Given the description of an element on the screen output the (x, y) to click on. 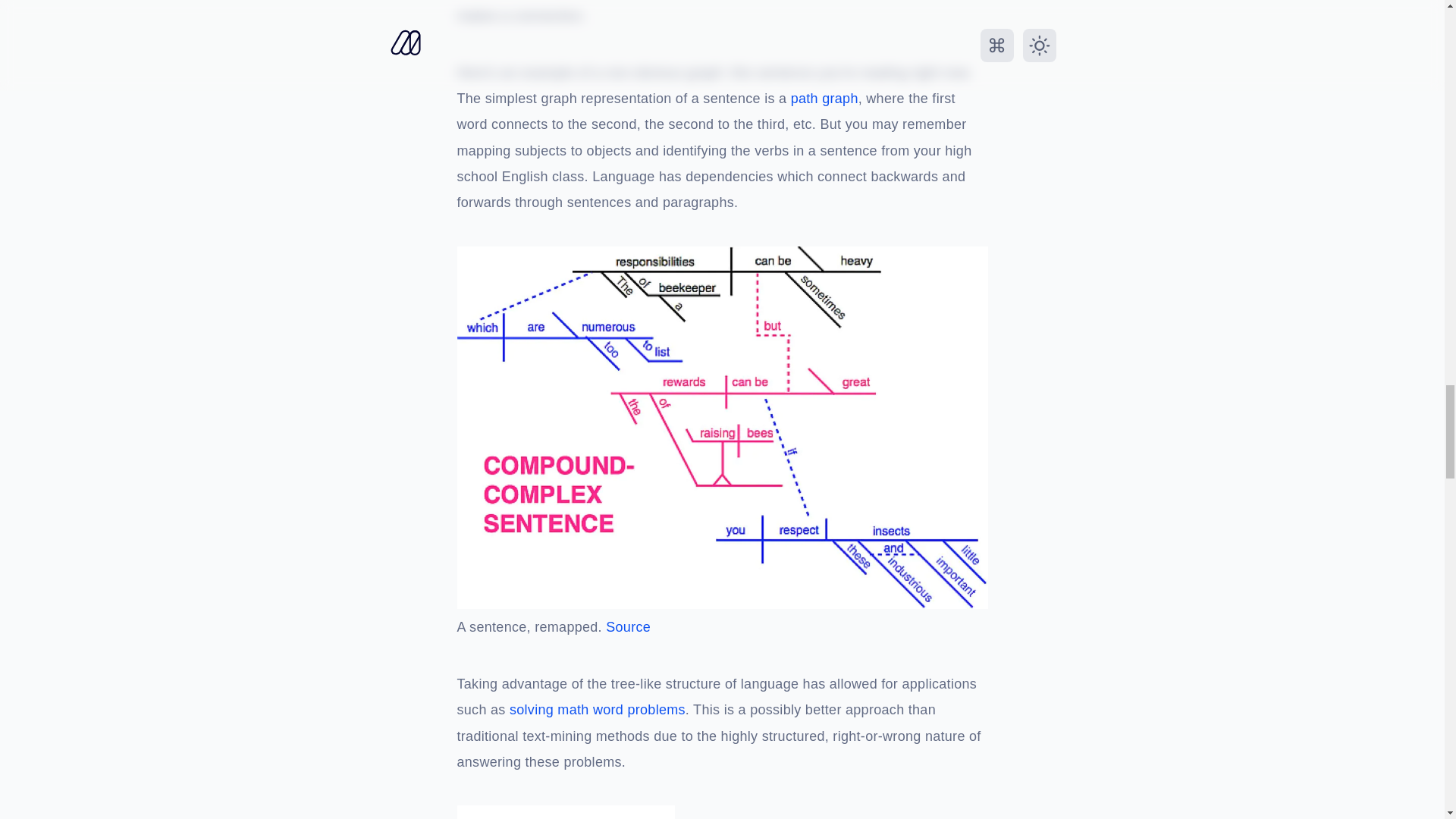
Source (627, 627)
path graph (824, 98)
solving math word problems (597, 710)
